Given the description of an element on the screen output the (x, y) to click on. 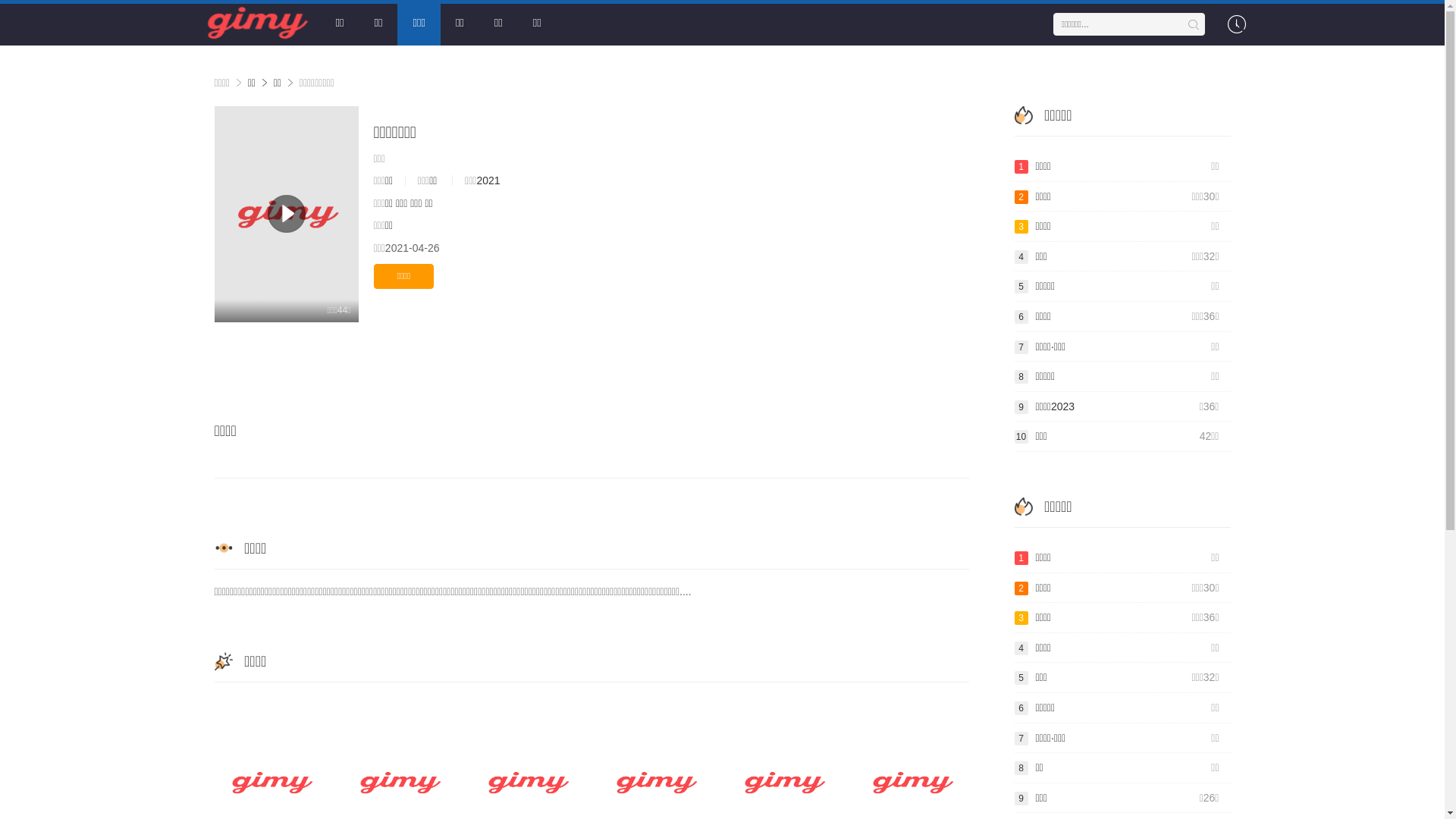
2021 Element type: text (487, 180)
